Given the description of an element on the screen output the (x, y) to click on. 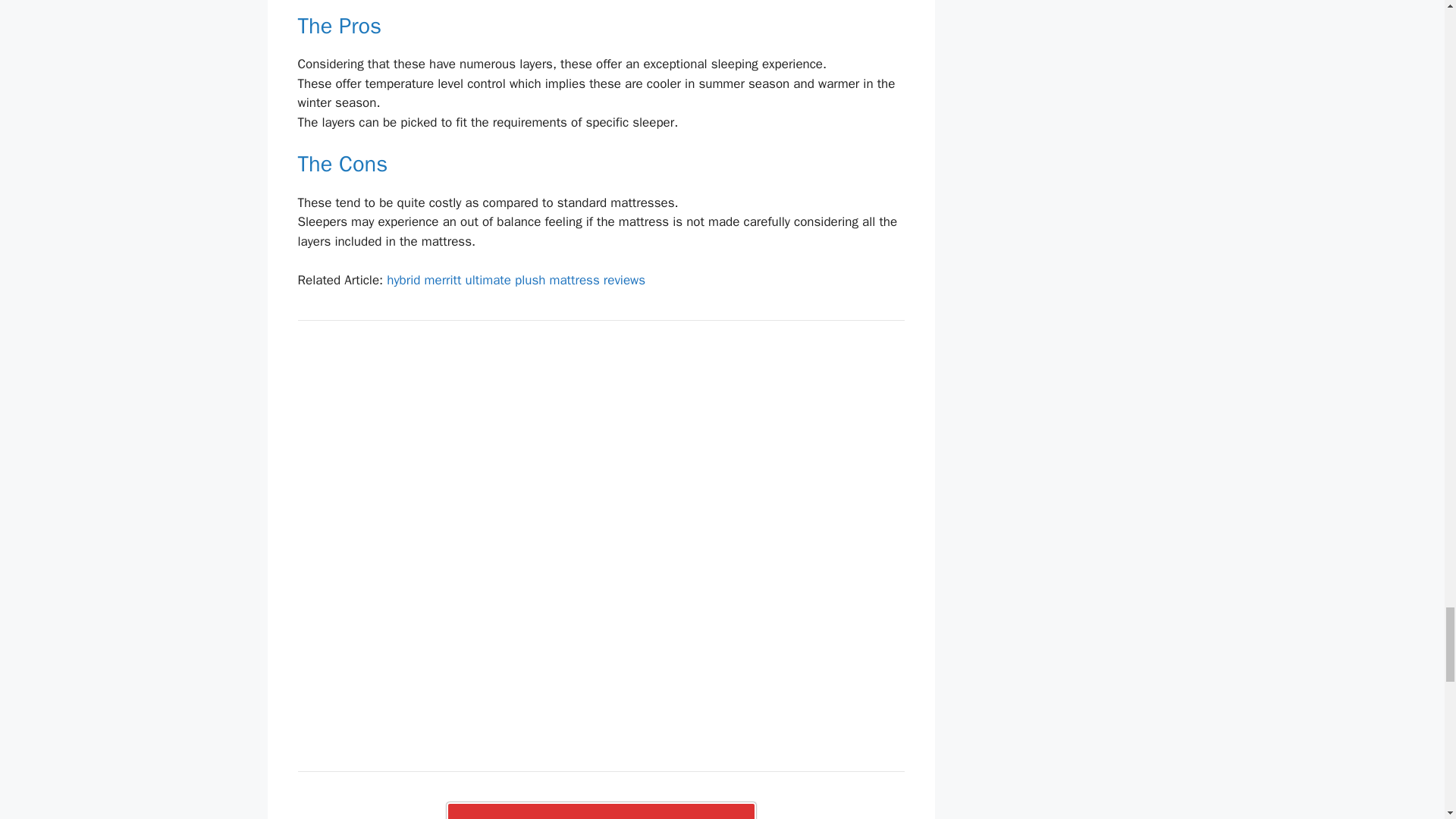
hybrid merritt ultimate plush mattress reviews (516, 279)
